Given the description of an element on the screen output the (x, y) to click on. 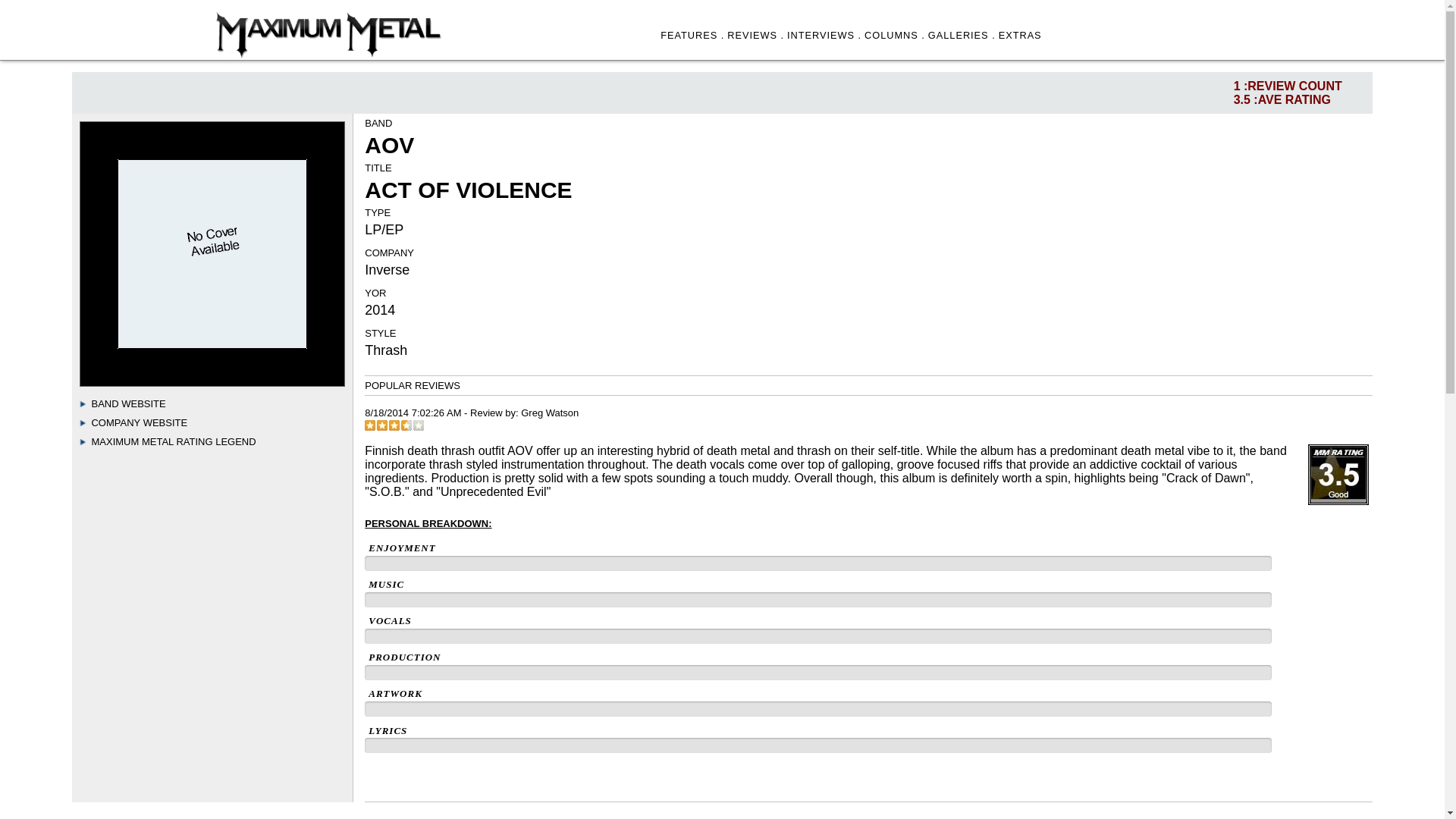
GALLERIES . (961, 34)
FEATURES . (692, 34)
COLUMNS . (894, 34)
Greg Watson (549, 412)
EXTRAS (1020, 34)
REVIEWS . (755, 34)
BAND WEBSITE (127, 403)
INTERVIEWS . (824, 34)
COMPANY WEBSITE (138, 422)
